Given the description of an element on the screen output the (x, y) to click on. 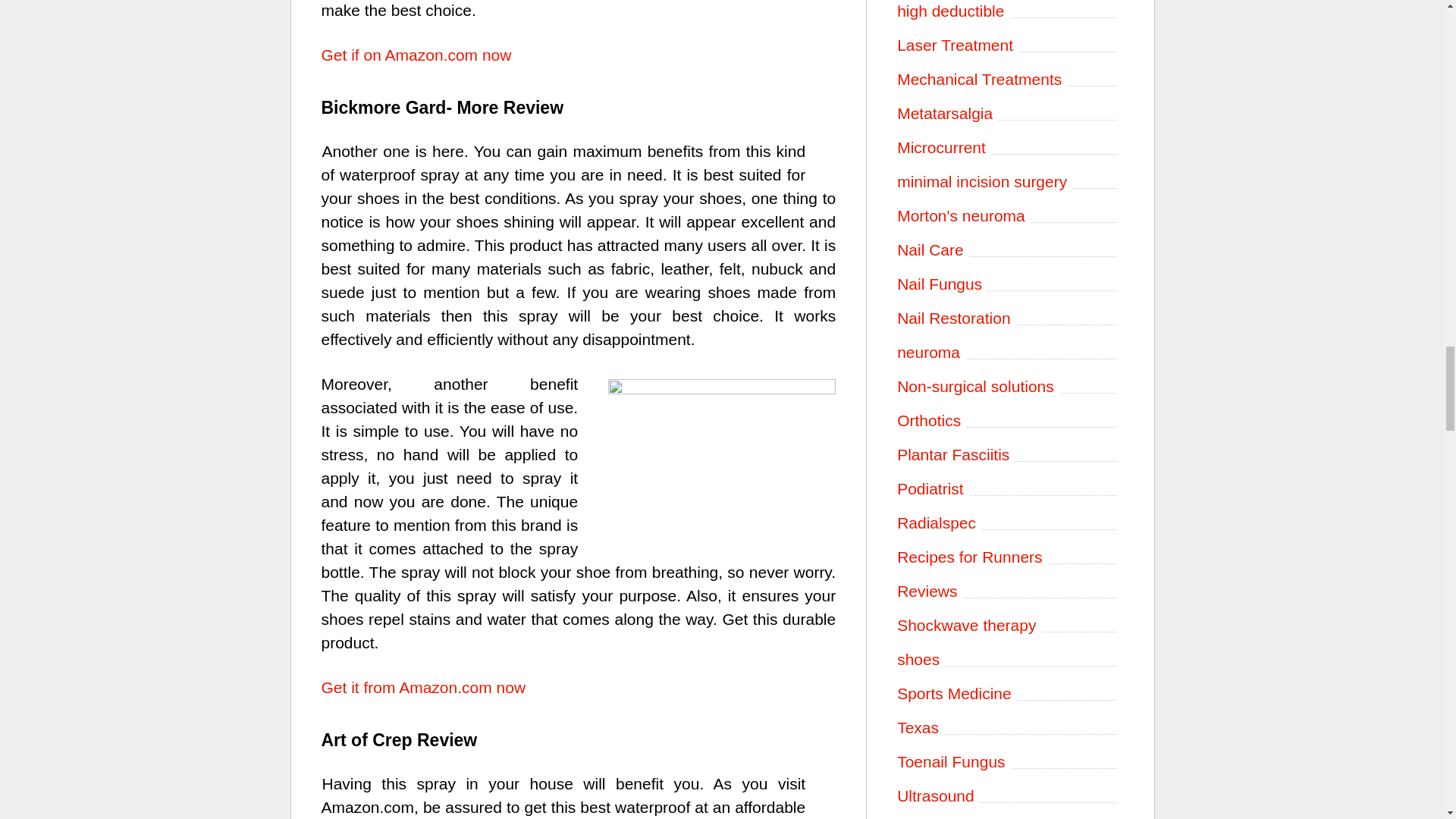
Get if on Amazon.com now (416, 54)
Get it from Amazon.com now (423, 687)
